Given the description of an element on the screen output the (x, y) to click on. 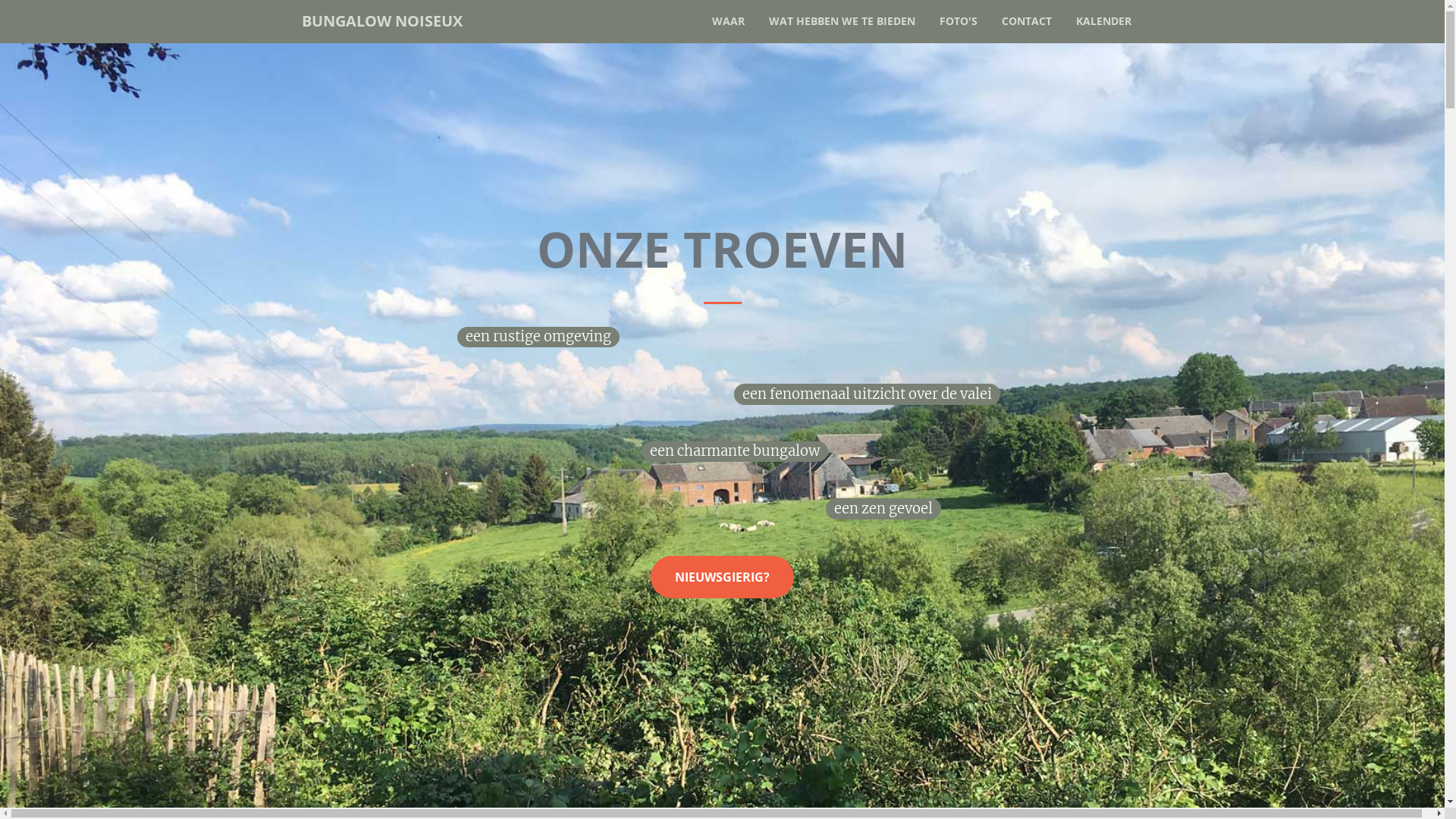
WAAR Element type: text (727, 20)
FOTO'S Element type: text (957, 20)
WAT HEBBEN WE TE BIEDEN Element type: text (841, 20)
KALENDER Element type: text (1102, 20)
BUNGALOW NOISEUX Element type: text (381, 21)
NIEUWSGIERIG? Element type: text (721, 576)
CONTACT Element type: text (1025, 20)
